Given the description of an element on the screen output the (x, y) to click on. 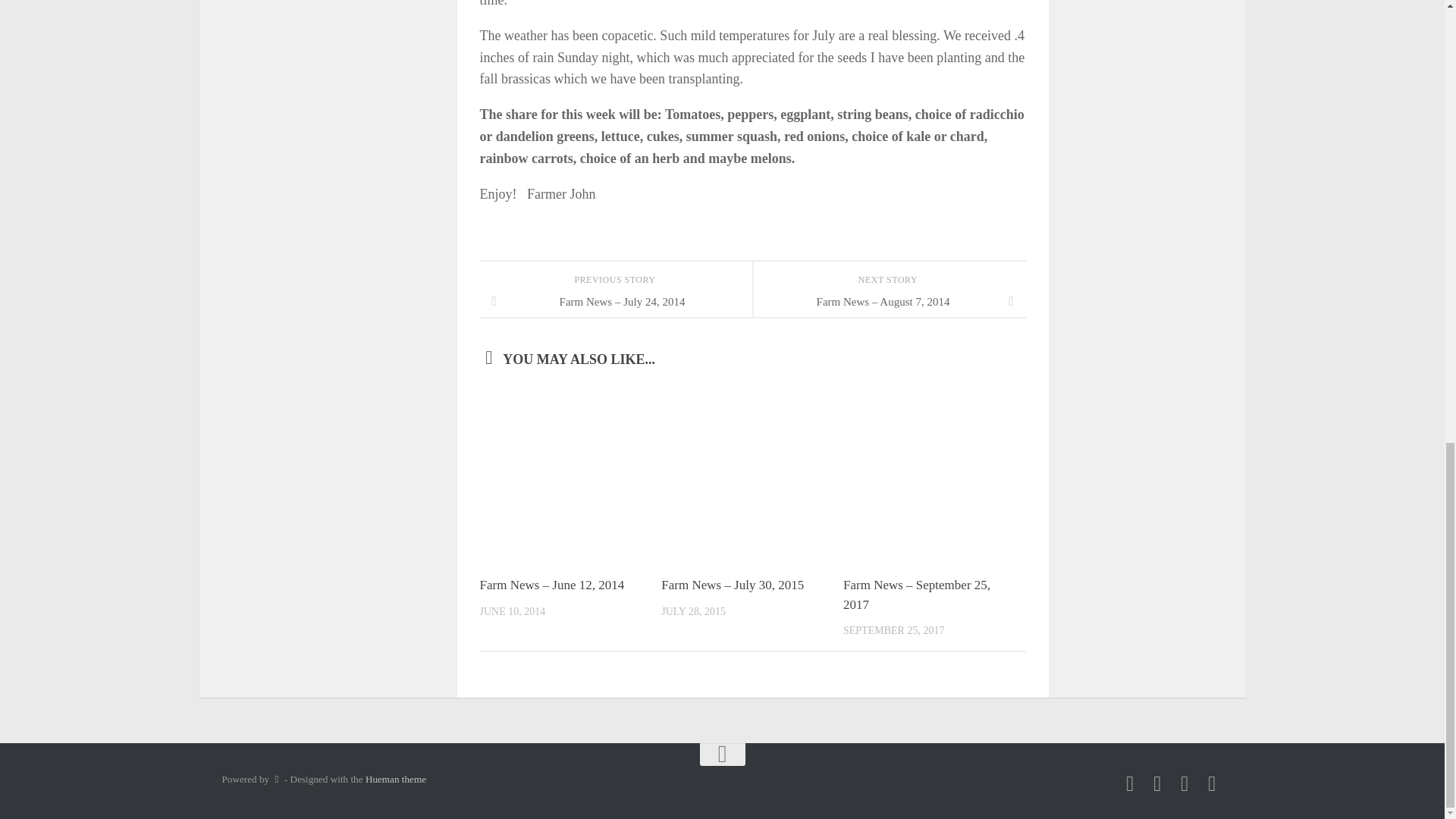
Powered by WordPress (275, 778)
Hueman theme (395, 778)
